Given the description of an element on the screen output the (x, y) to click on. 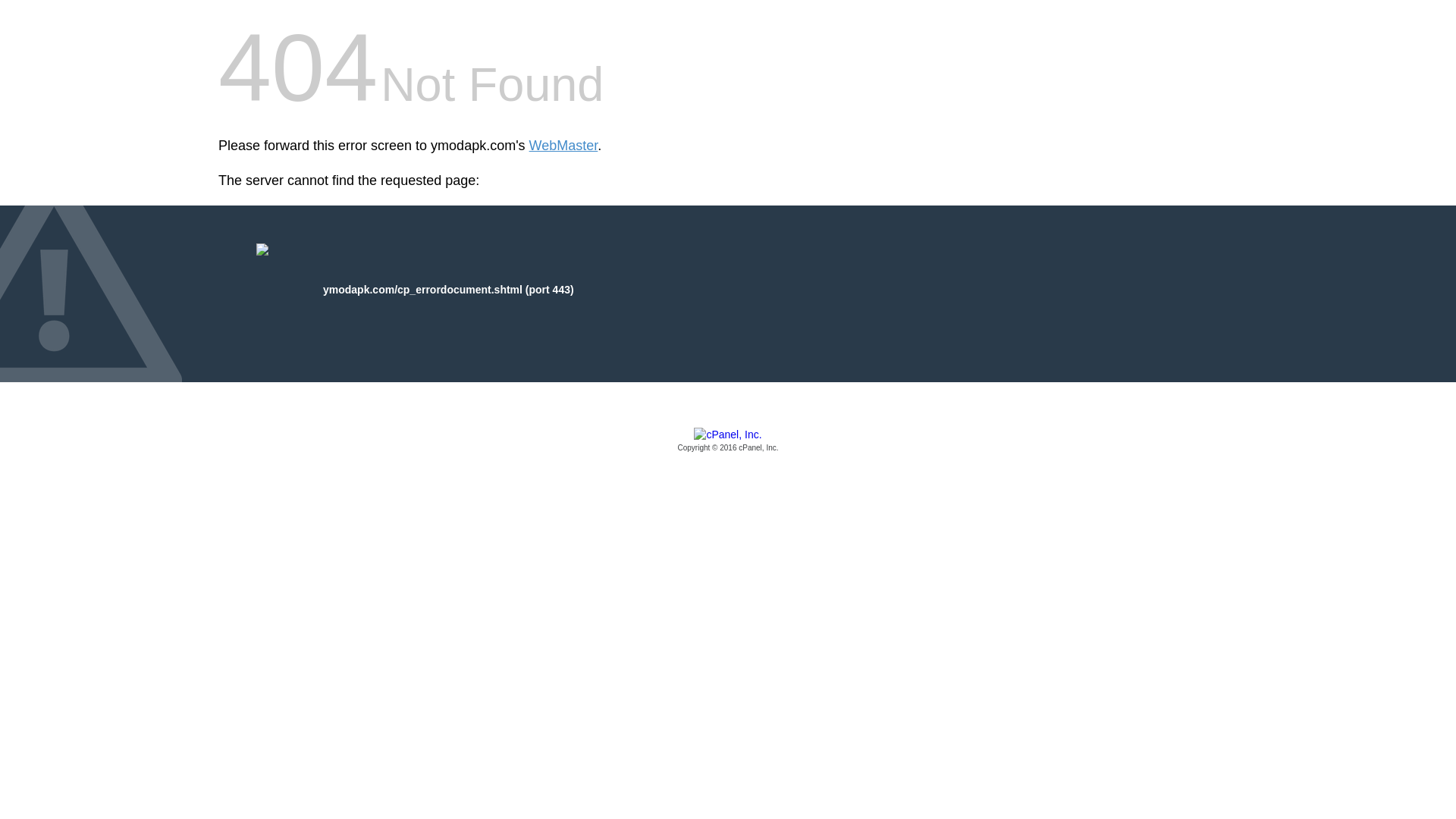
WebMaster (563, 145)
cPanel, Inc. (727, 440)
